Given the description of an element on the screen output the (x, y) to click on. 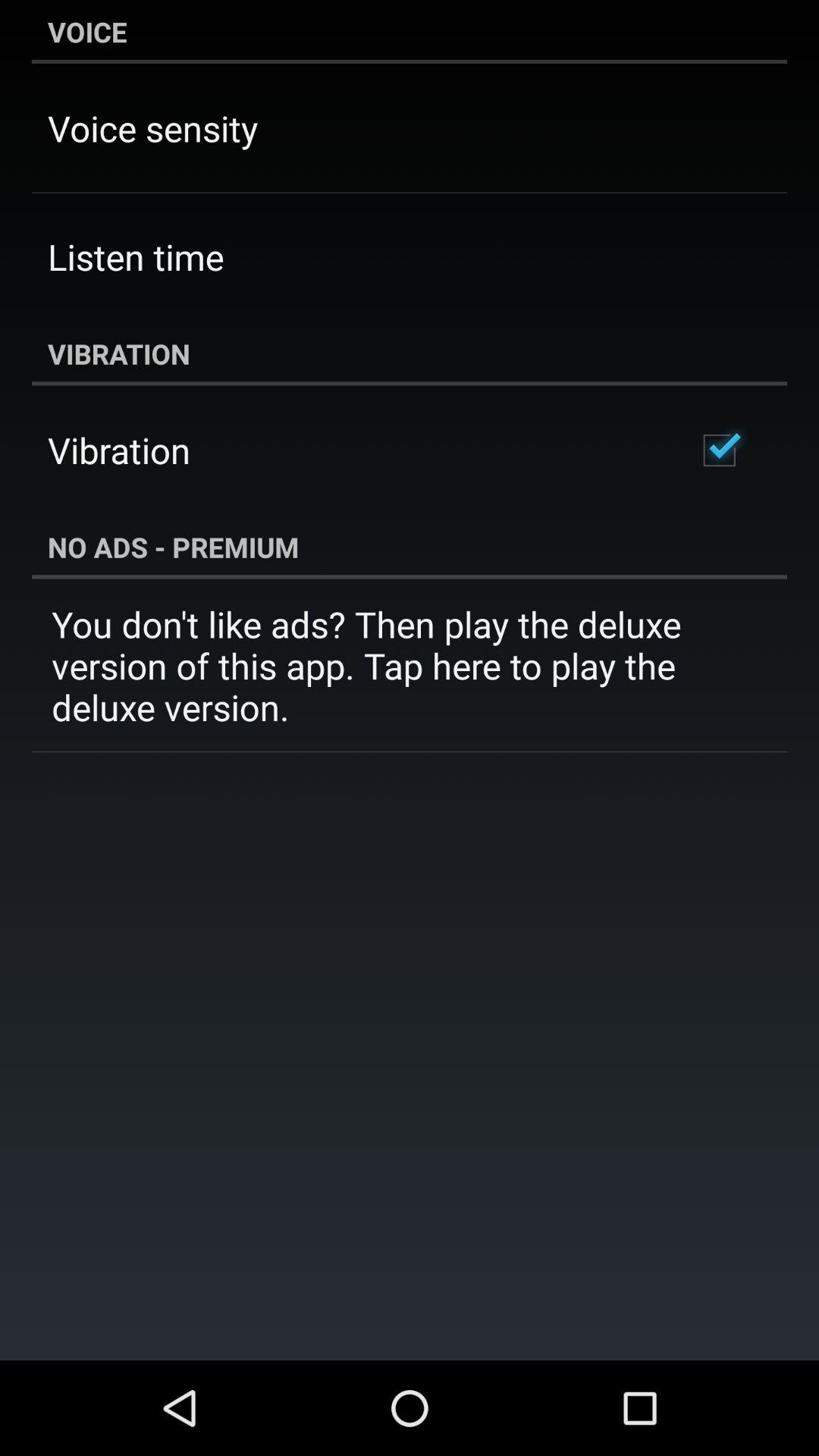
press the app below voice item (152, 128)
